Given the description of an element on the screen output the (x, y) to click on. 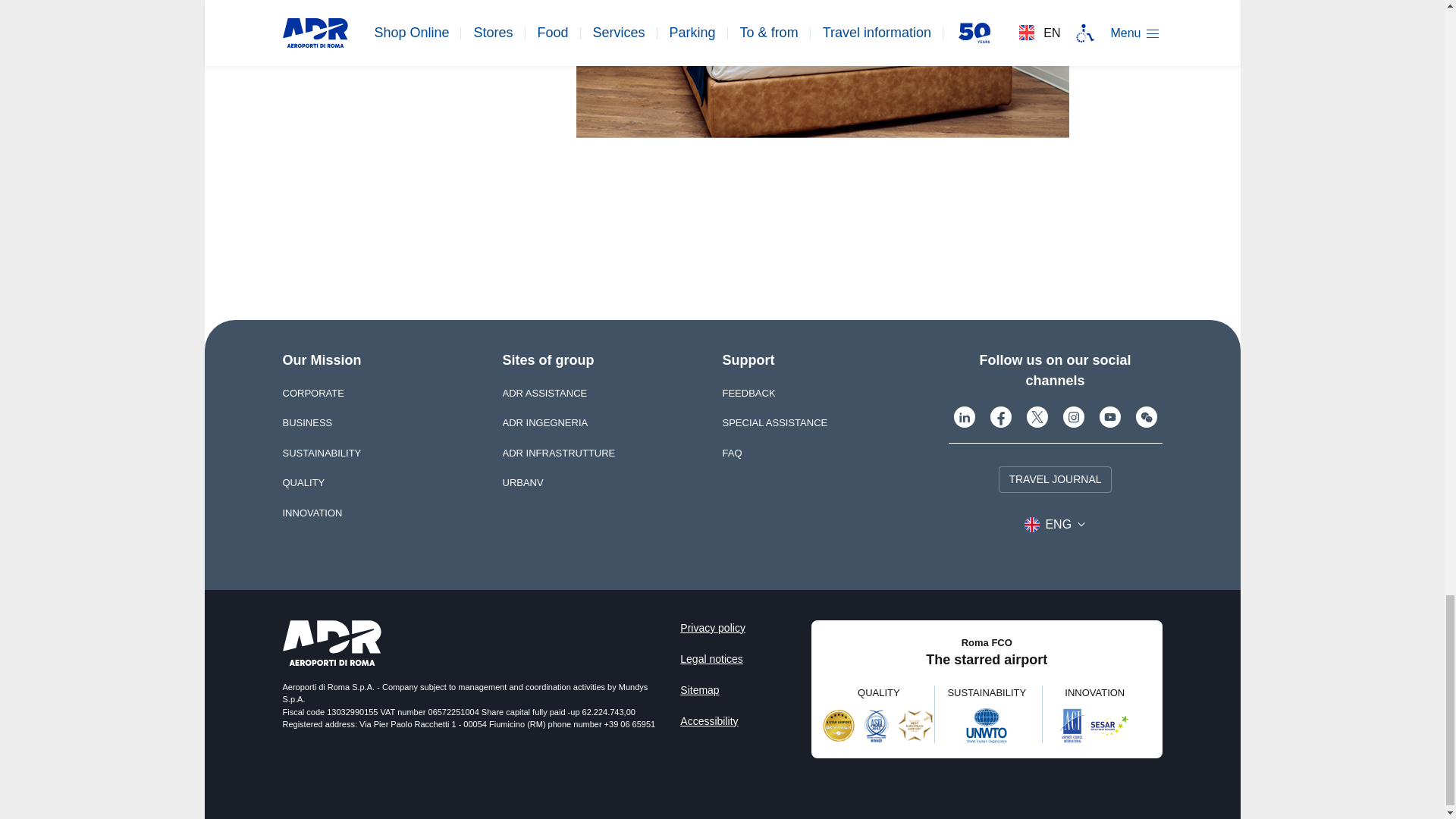
ASQ 2023 - winner (876, 725)
5 star airport - skytrax (839, 725)
Sesar (1110, 725)
Best european Airport 2022 (915, 725)
UNWTO (986, 725)
Travel Journal (1054, 479)
